Given the description of an element on the screen output the (x, y) to click on. 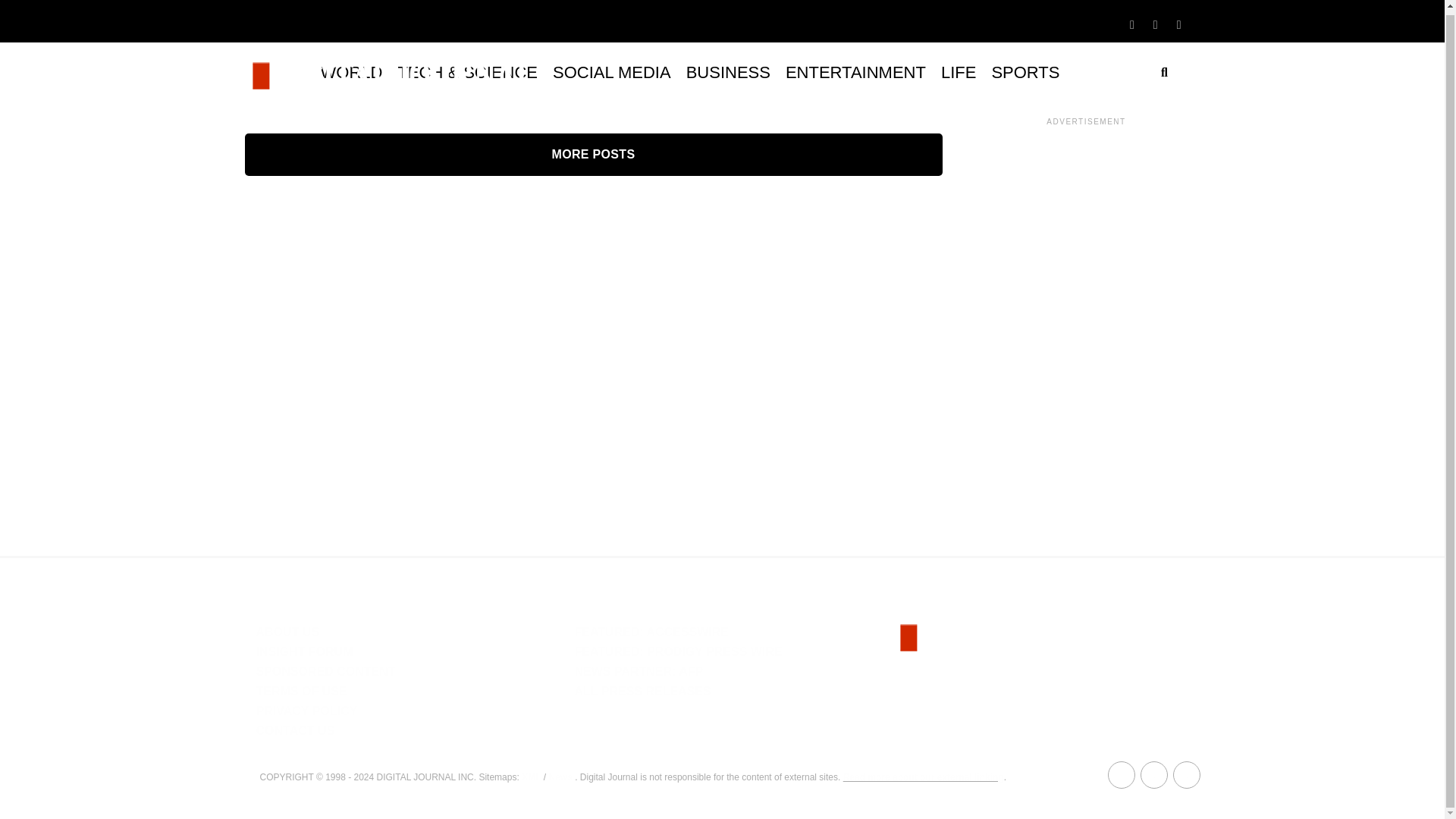
TERMS OF USE (301, 690)
WORLD (351, 72)
News (560, 776)
FEATURED: PRODIGY PRESS WIRE (677, 651)
ENTERTAINMENT (855, 72)
SOCIAL MEDIA (611, 72)
SPORTS (1025, 72)
NEWS PARTNER: AFP (638, 671)
MORE POSTS (593, 154)
Read more about our external linking (923, 776)
